Given the description of an element on the screen output the (x, y) to click on. 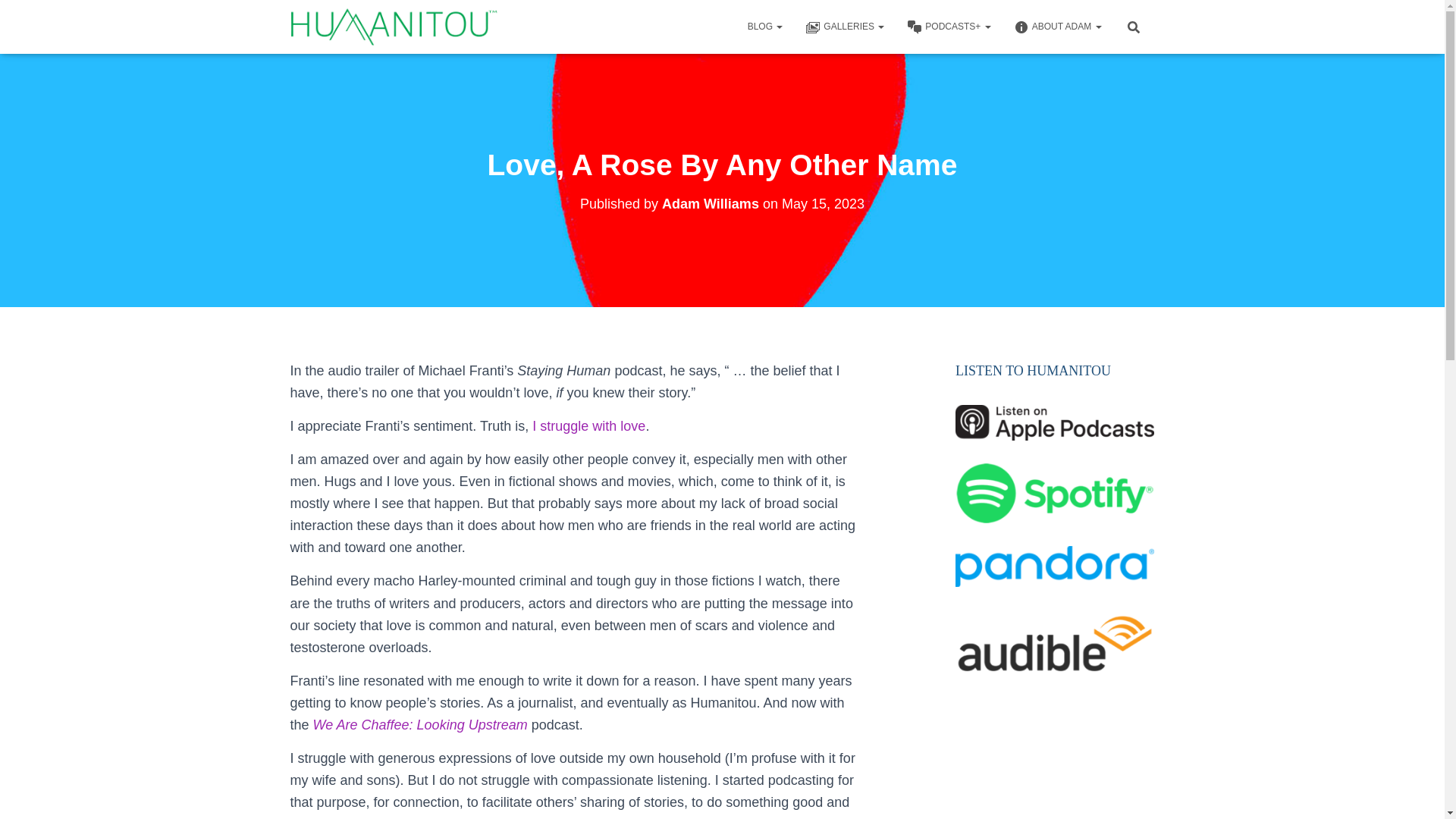
Humanitou (394, 26)
Blog (763, 26)
LISTEN TO HUMANITOU (1032, 370)
BLOG (763, 26)
ABOUT ADAM (1058, 26)
We Are Chaffee: Looking Upstream (420, 724)
Galleries (844, 26)
Adam Williams (710, 203)
About Adam (1058, 26)
I struggle with love (588, 426)
